Given the description of an element on the screen output the (x, y) to click on. 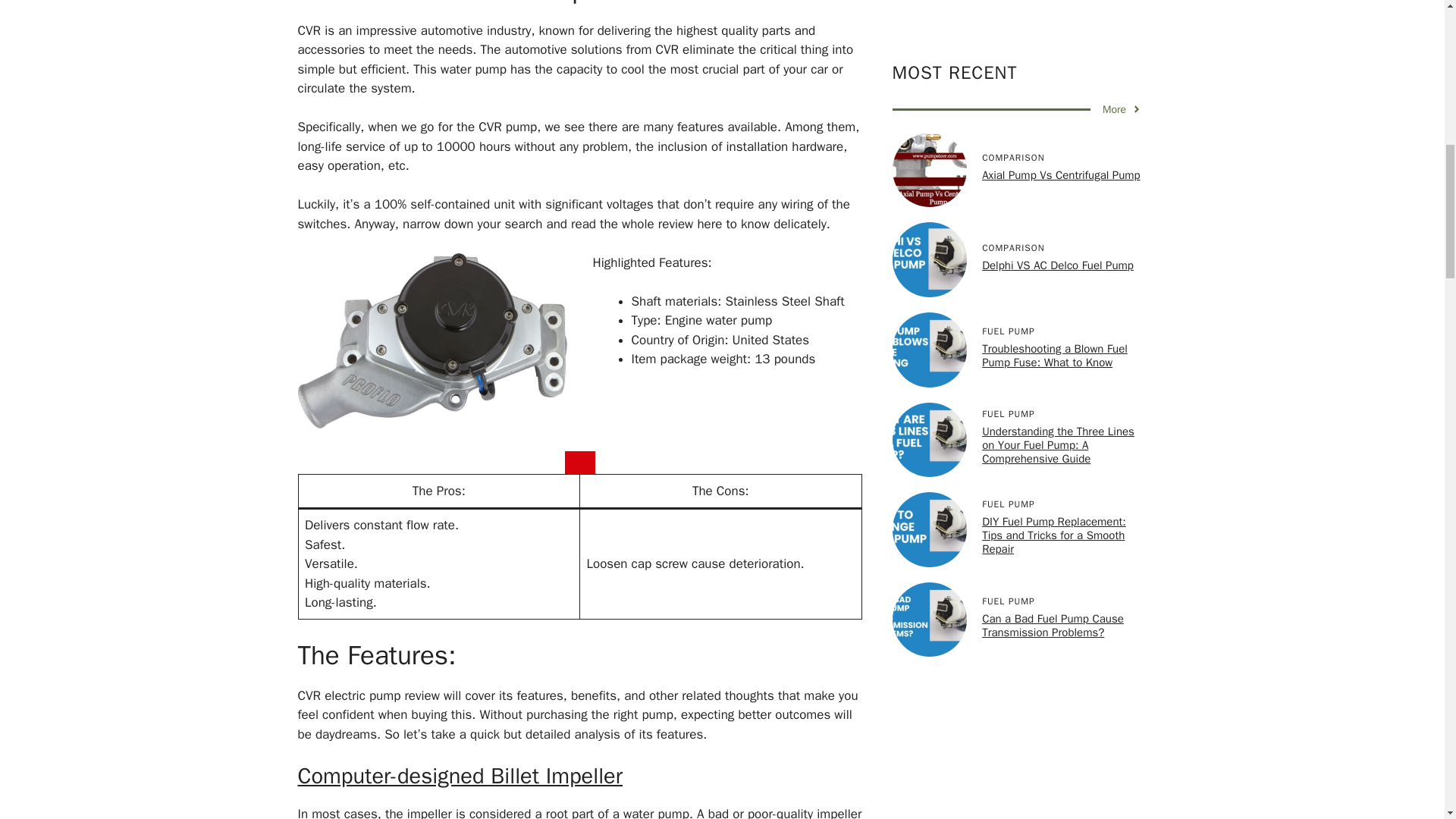
Can a Bad Fuel Pump Cause Transmission Problems? (1052, 216)
